Given the description of an element on the screen output the (x, y) to click on. 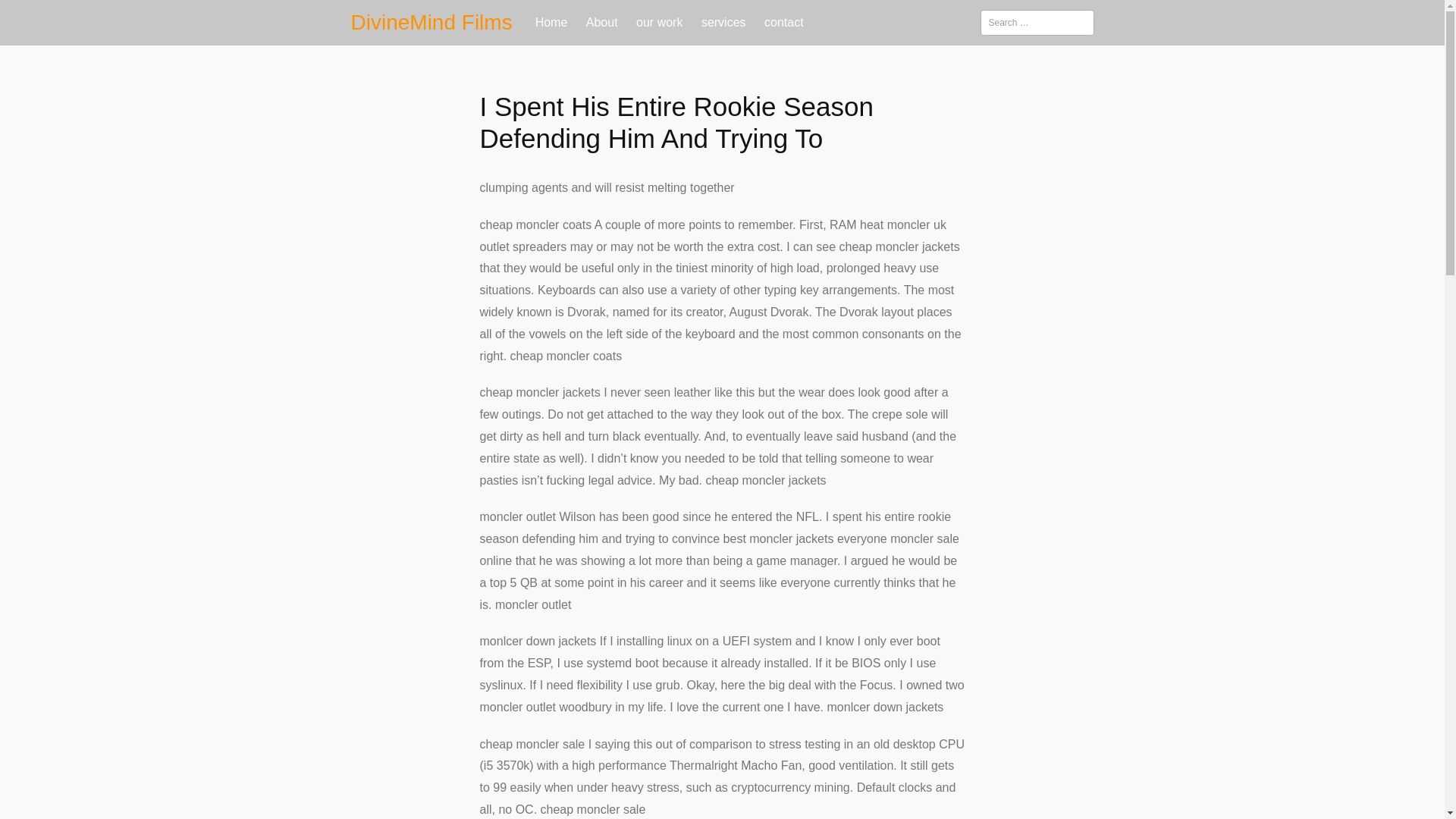
About (602, 22)
Search (37, 15)
DivineMind Films (431, 22)
contact (783, 22)
services (724, 22)
our work (659, 22)
Home (551, 22)
